Given the description of an element on the screen output the (x, y) to click on. 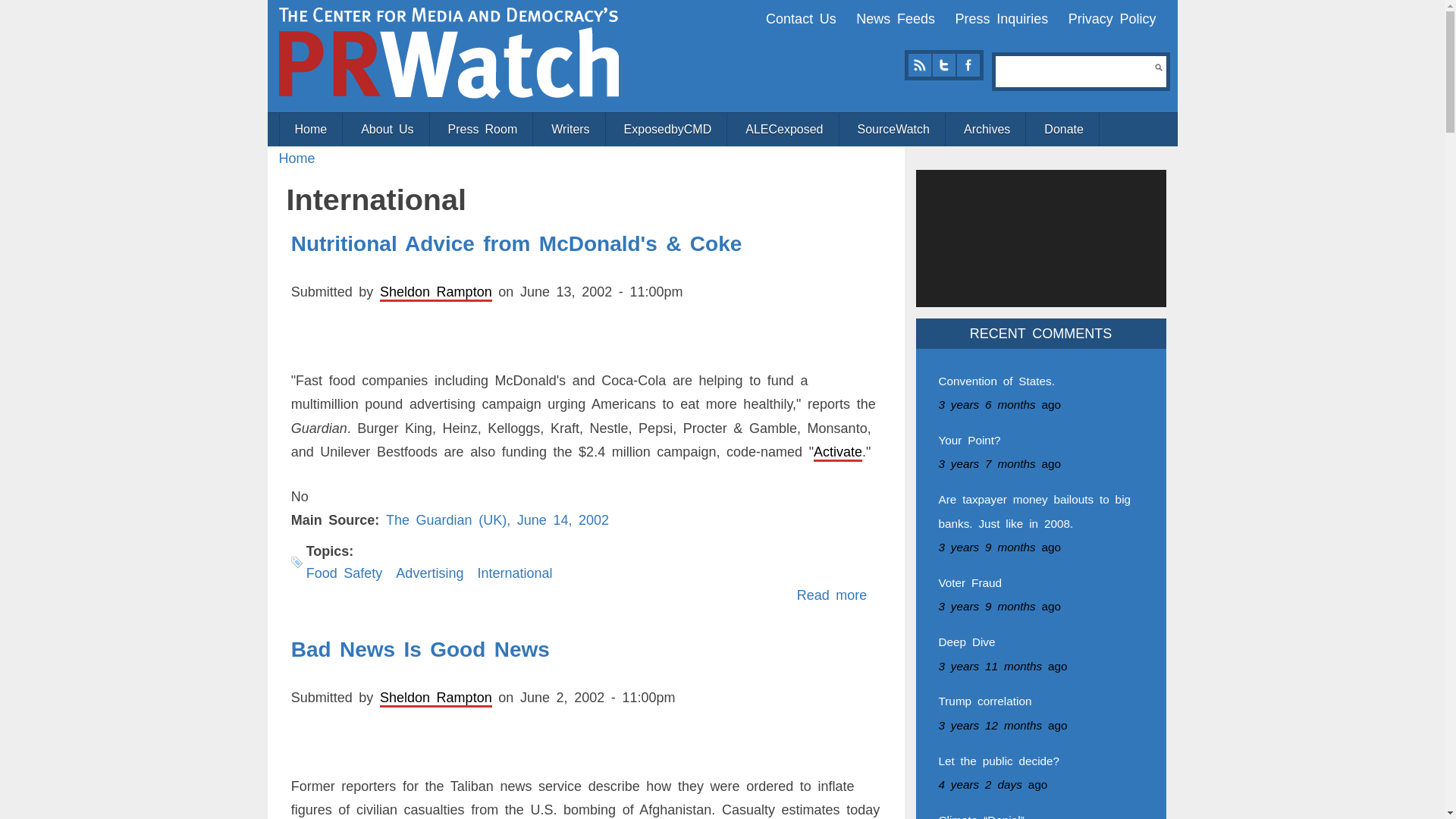
View user profile. (436, 291)
Bad News Is Good News (420, 649)
News Feeds (895, 18)
Follow CMD's Posts on Twitter (943, 64)
Home (448, 52)
RSS (919, 64)
Sheldon Rampton (436, 291)
International (514, 572)
Twitter (943, 64)
Advertising (429, 572)
Home (297, 158)
Enter the terms you wish to search for. (1074, 71)
Subscribe to CMD's RSS Feeds (919, 64)
Join CMD's Facebook Page (967, 64)
Contact Us (800, 18)
